Given the description of an element on the screen output the (x, y) to click on. 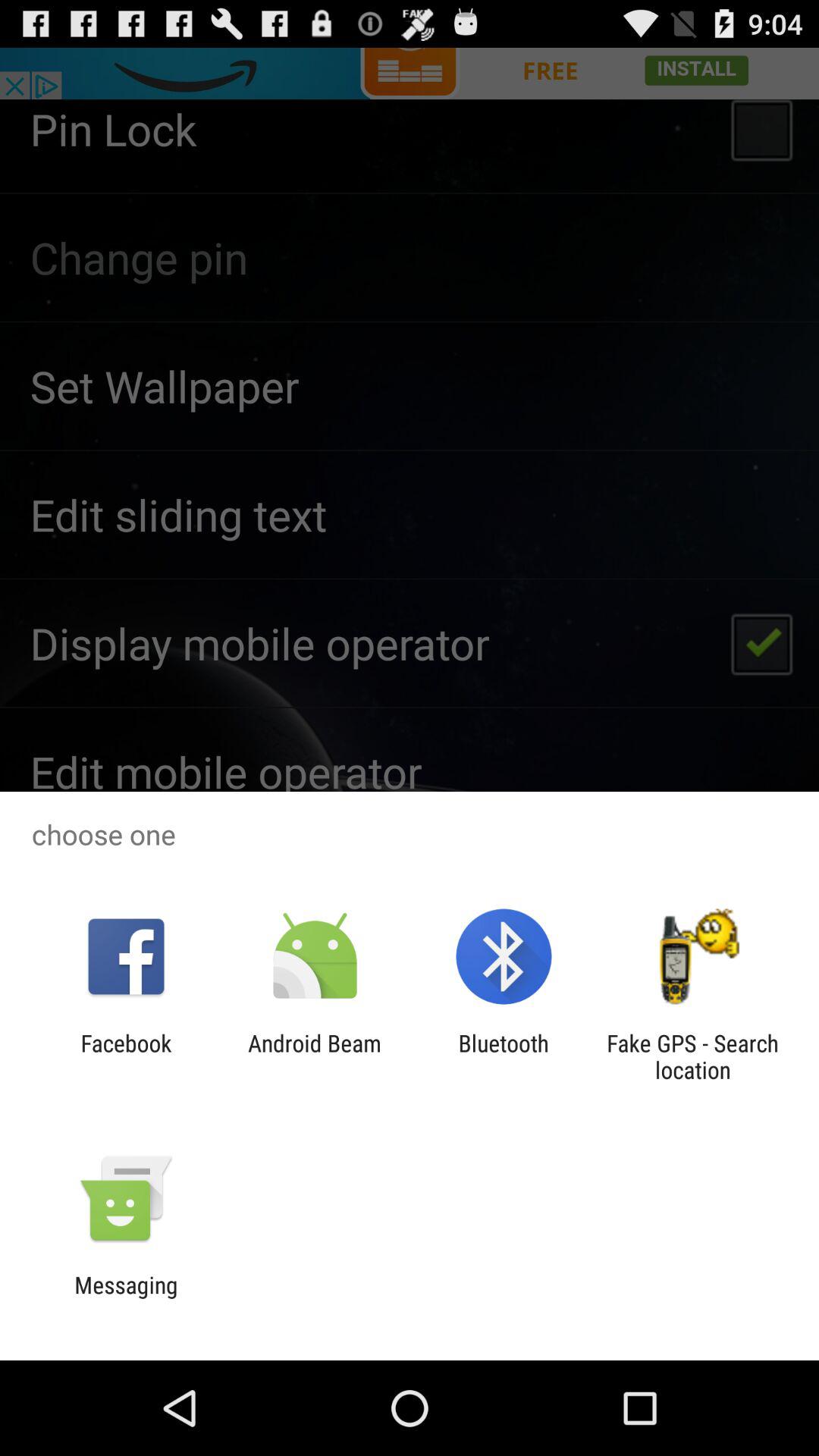
flip until facebook item (125, 1056)
